Given the description of an element on the screen output the (x, y) to click on. 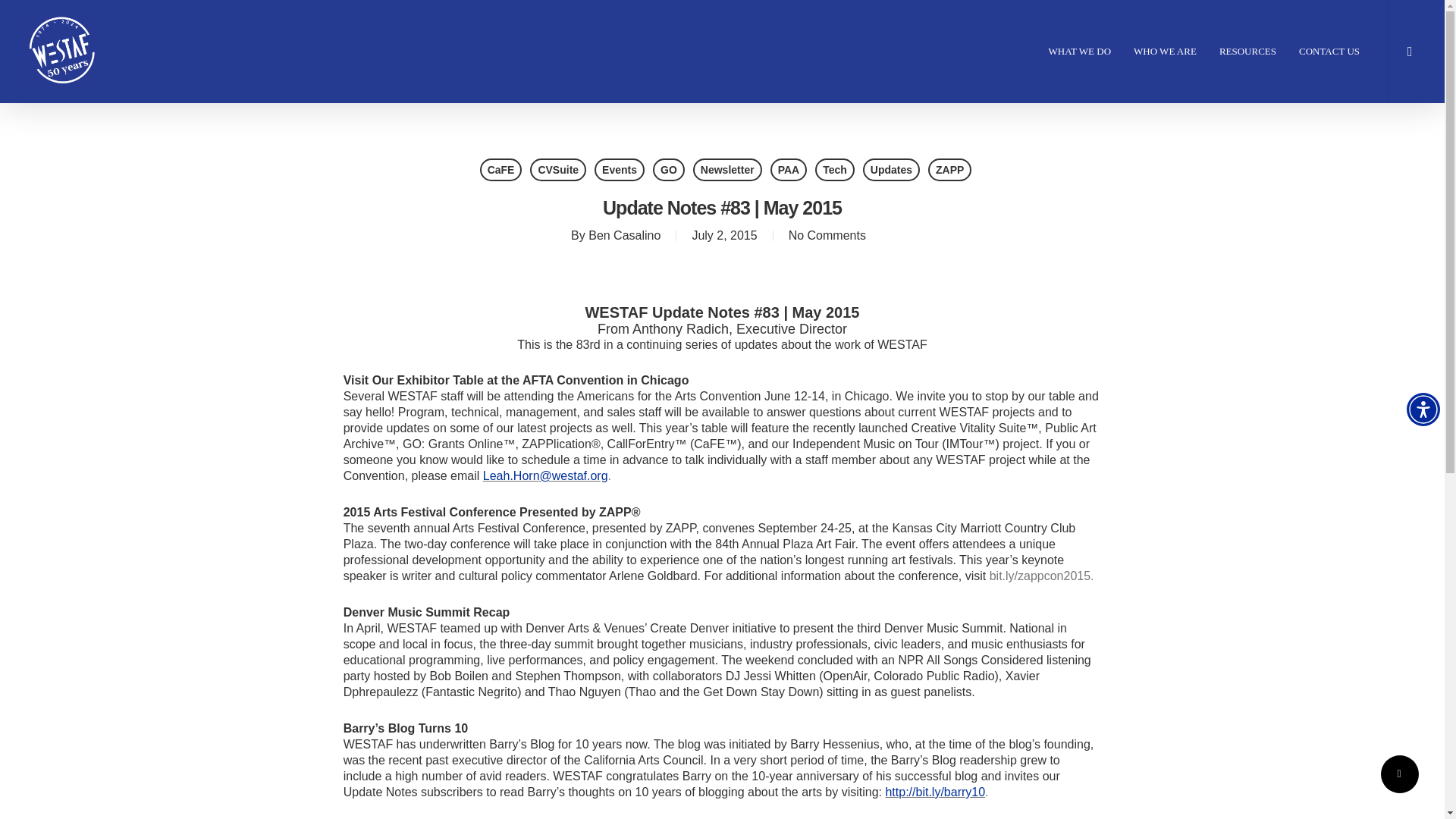
ZAPP (949, 169)
No Comments (827, 235)
CaFE (501, 169)
GO (668, 169)
CONTACT US (1329, 51)
PAA (789, 169)
Accessibility Menu (1422, 409)
WHO WE ARE (1165, 51)
Posts by Ben Casalino (624, 235)
Updates (891, 169)
RESOURCES (1247, 51)
Tech (834, 169)
Ben Casalino (624, 235)
CVSuite (557, 169)
Events (619, 169)
